Given the description of an element on the screen output the (x, y) to click on. 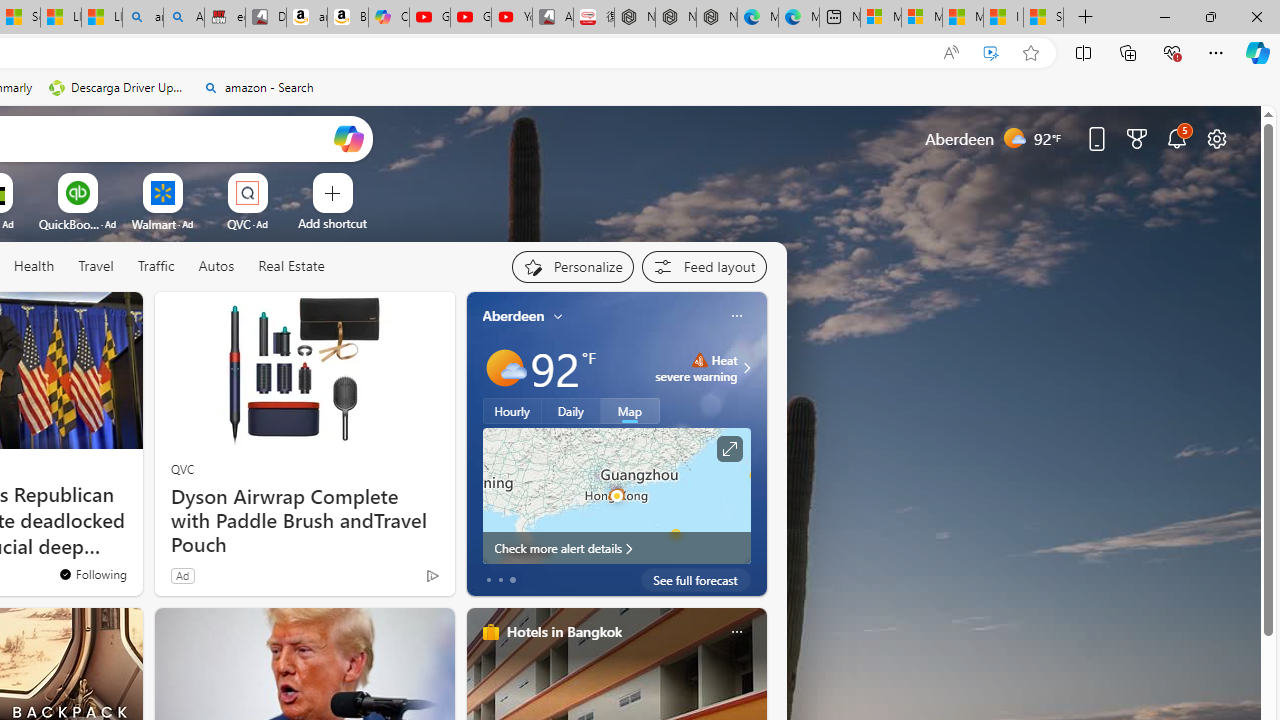
Class: icon-img (736, 632)
Travel (95, 265)
Health (34, 265)
Autos (215, 265)
Autos (216, 267)
Heat - Severe (699, 359)
Copilot (Ctrl+Shift+.) (1258, 52)
amazon - Search (258, 88)
Restore (1210, 16)
More options (736, 631)
See more (118, 315)
hotels-header-icon (490, 632)
